Given the description of an element on the screen output the (x, y) to click on. 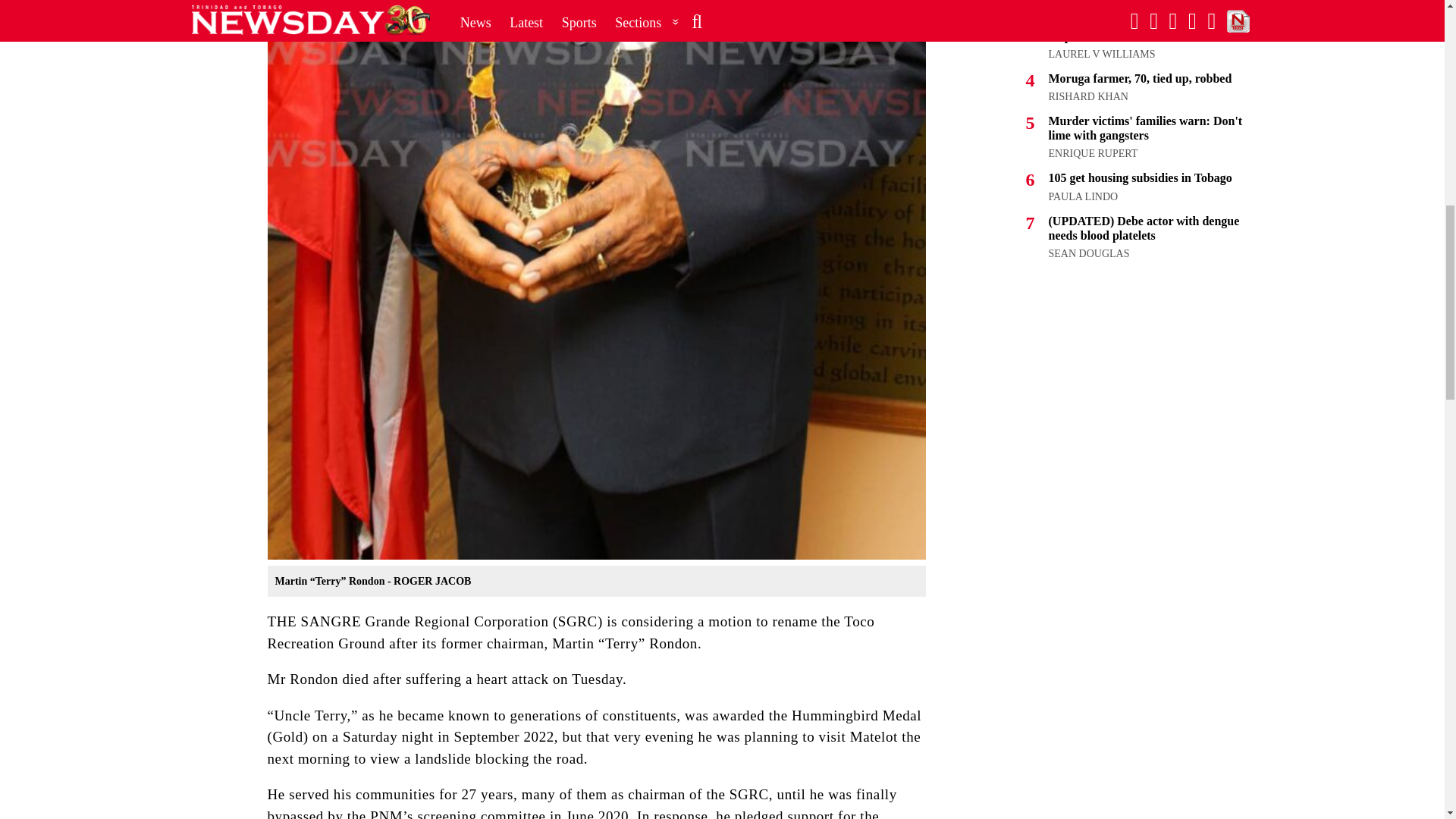
LAUREL V WILLIAMS (1101, 53)
RISHARD KHAN (1087, 96)
Murder victims' families warn: Don't lime with gangsters (1144, 127)
Moruga farmer, 70, tied up, robbed (1139, 78)
PAULA LINDO (1083, 196)
ENRIQUE RUPERT (1092, 153)
NEWSDAY (1074, 1)
SEAN DOUGLAS (1088, 253)
105 get housing subsidies in Tobago (1139, 177)
Carlsen Field man charged with amputee's murder (1131, 28)
